Given the description of an element on the screen output the (x, y) to click on. 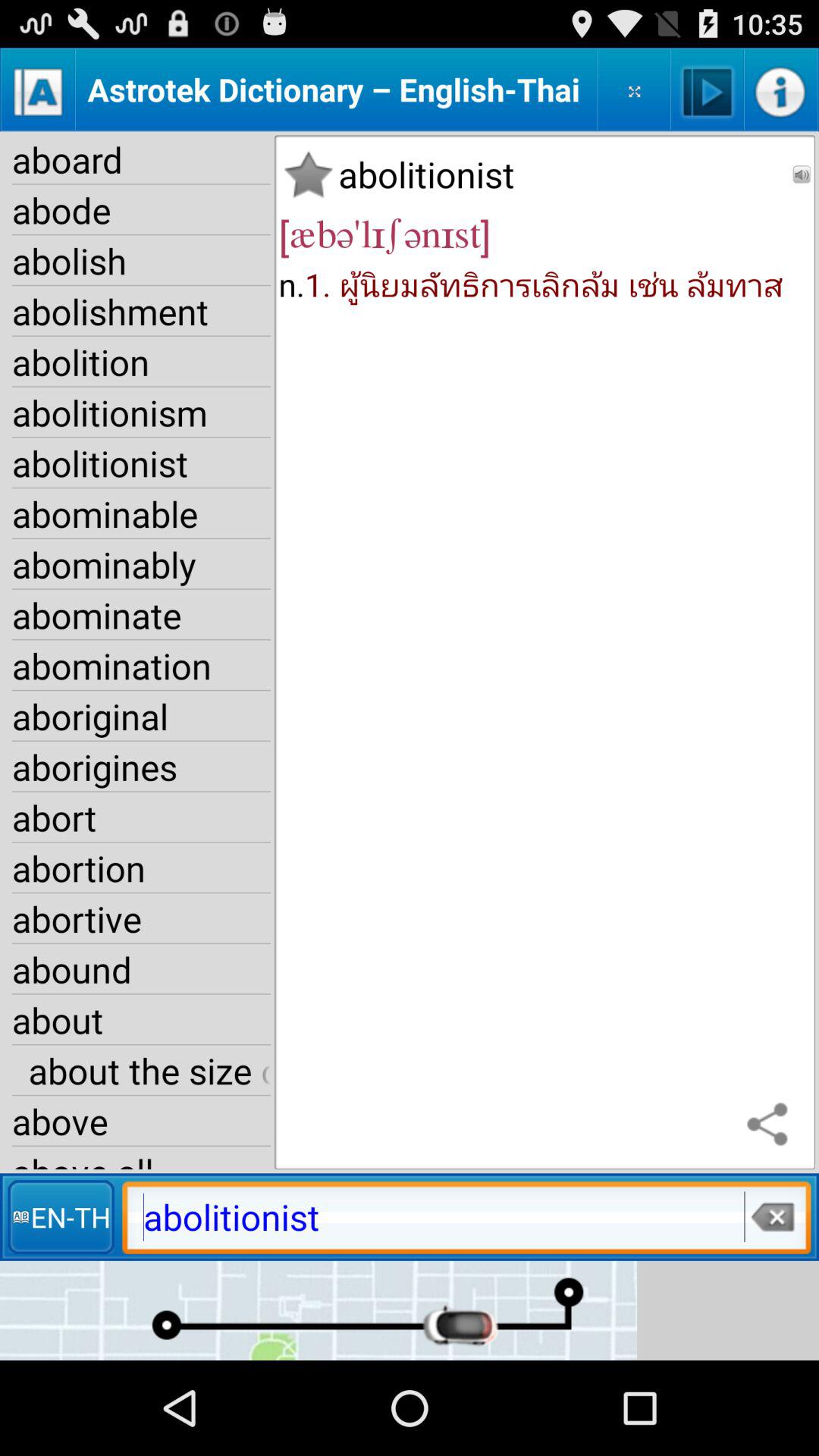
get info about the app (780, 89)
